Given the description of an element on the screen output the (x, y) to click on. 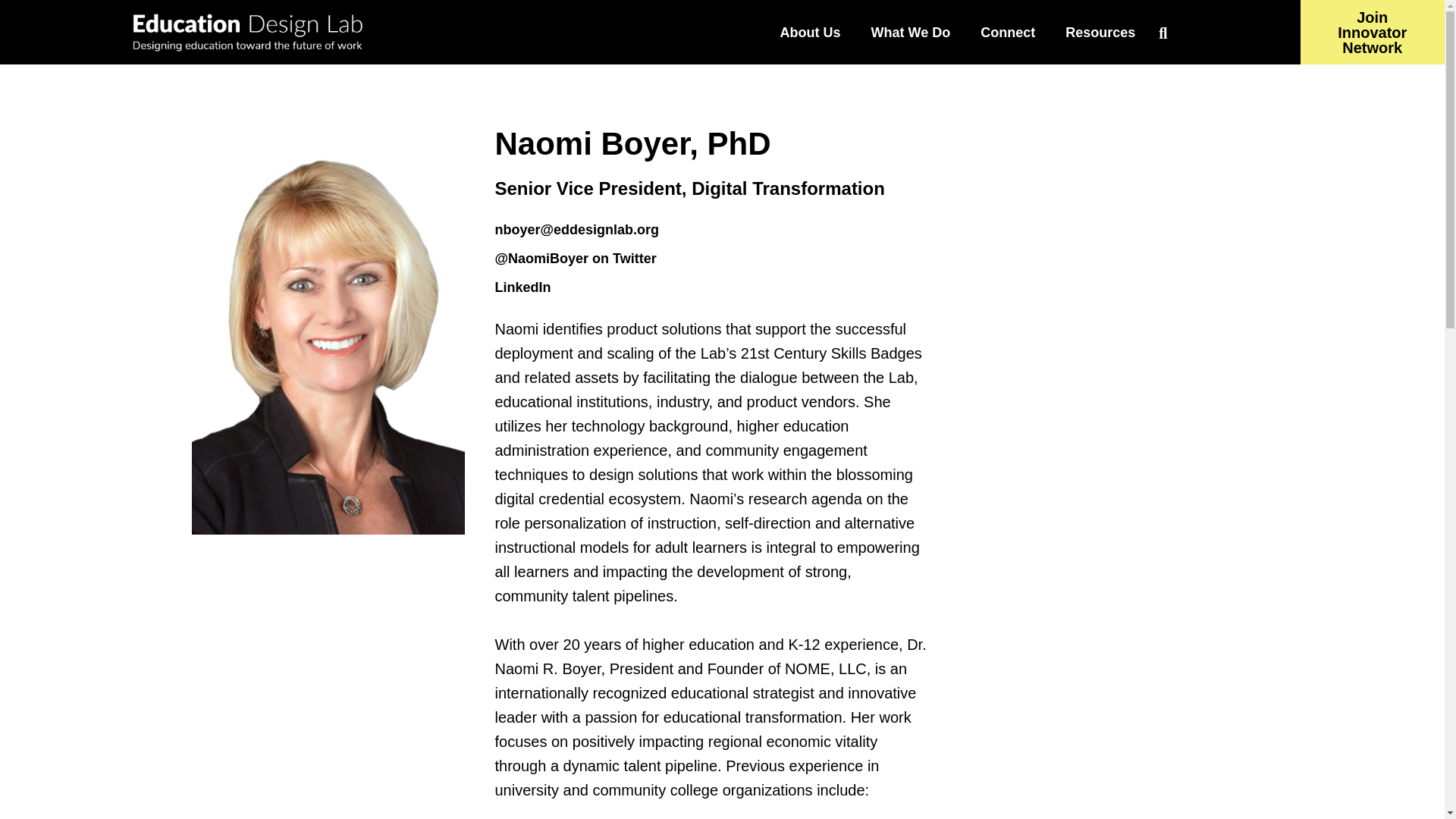
Connect (1007, 32)
About Us (810, 32)
Resources (1099, 32)
What We Do (911, 32)
